Given the description of an element on the screen output the (x, y) to click on. 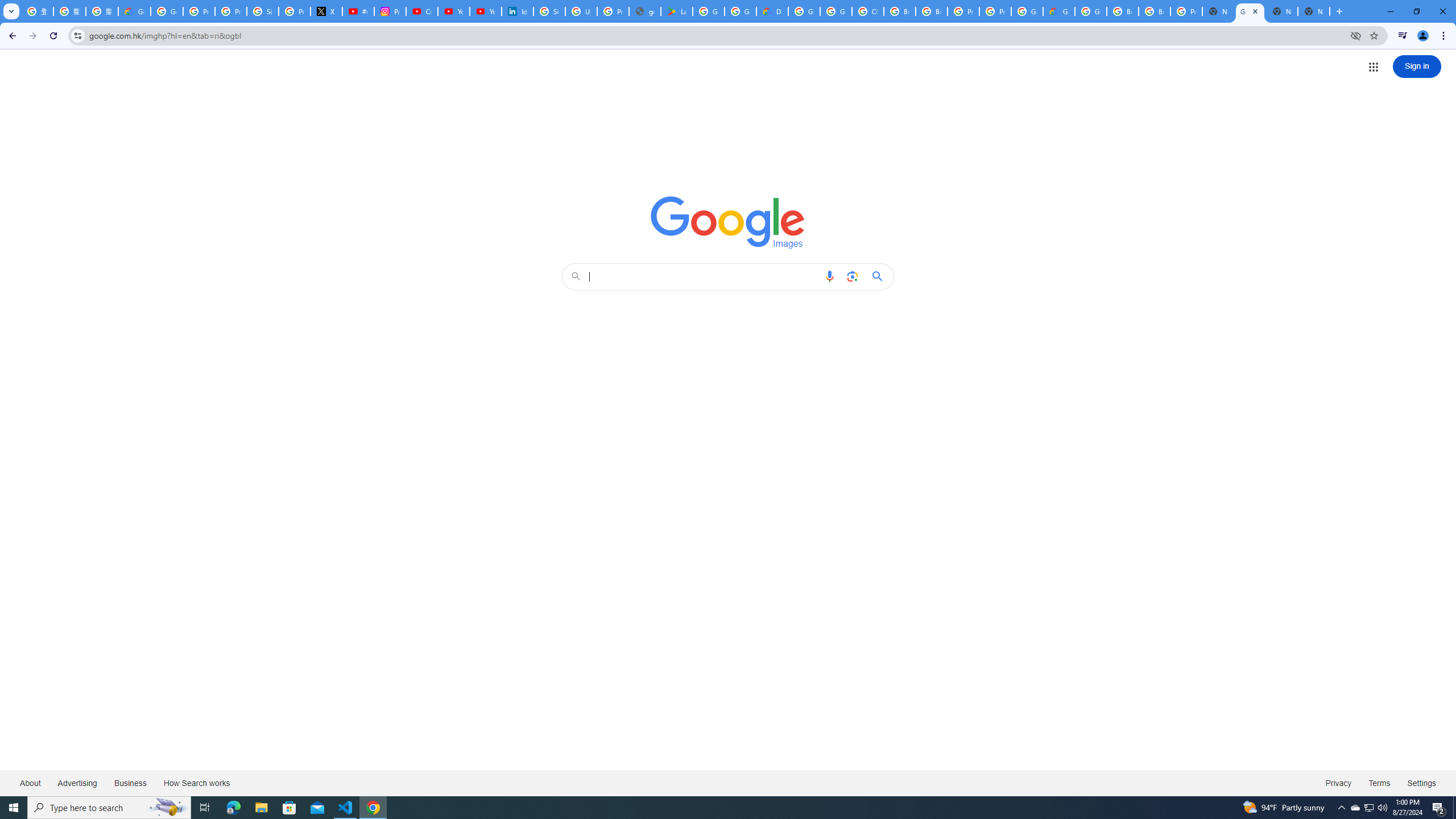
Google Cloud Platform (1091, 11)
Google Cloud Platform (804, 11)
